Given the description of an element on the screen output the (x, y) to click on. 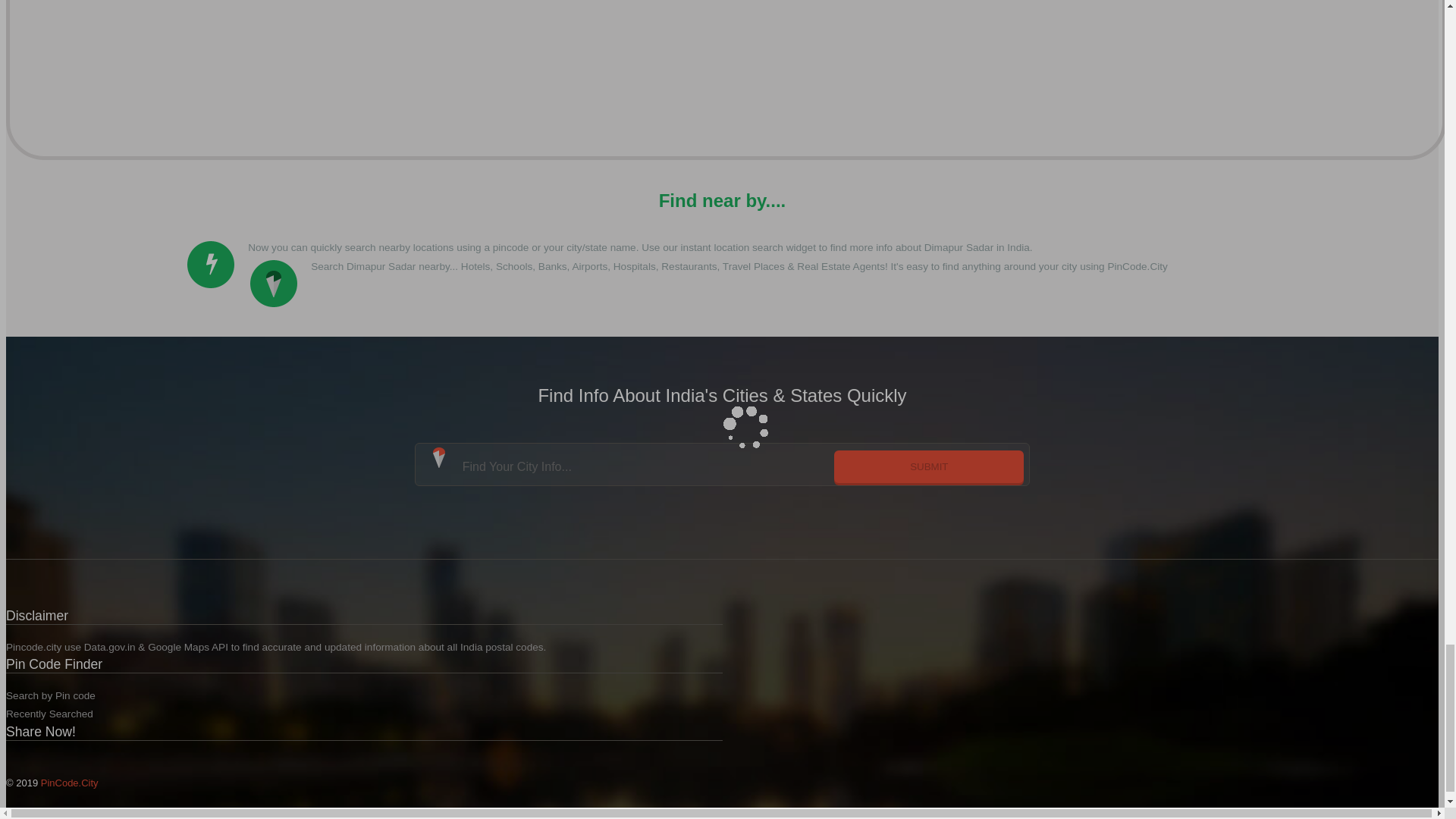
submit (928, 466)
